Given the description of an element on the screen output the (x, y) to click on. 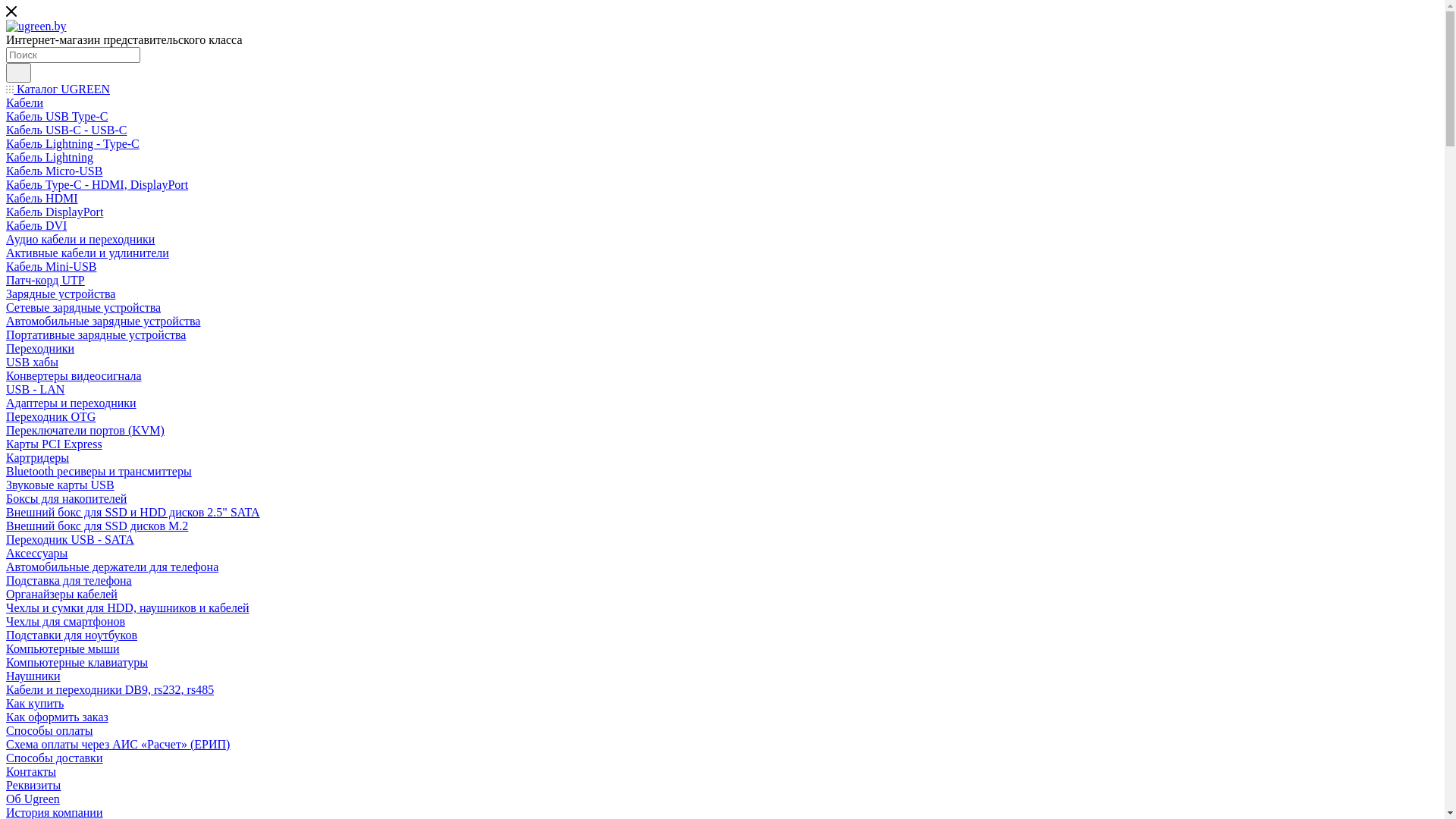
USB - LAN Element type: text (35, 388)
ugreen.by Element type: hover (36, 26)
